Given the description of an element on the screen output the (x, y) to click on. 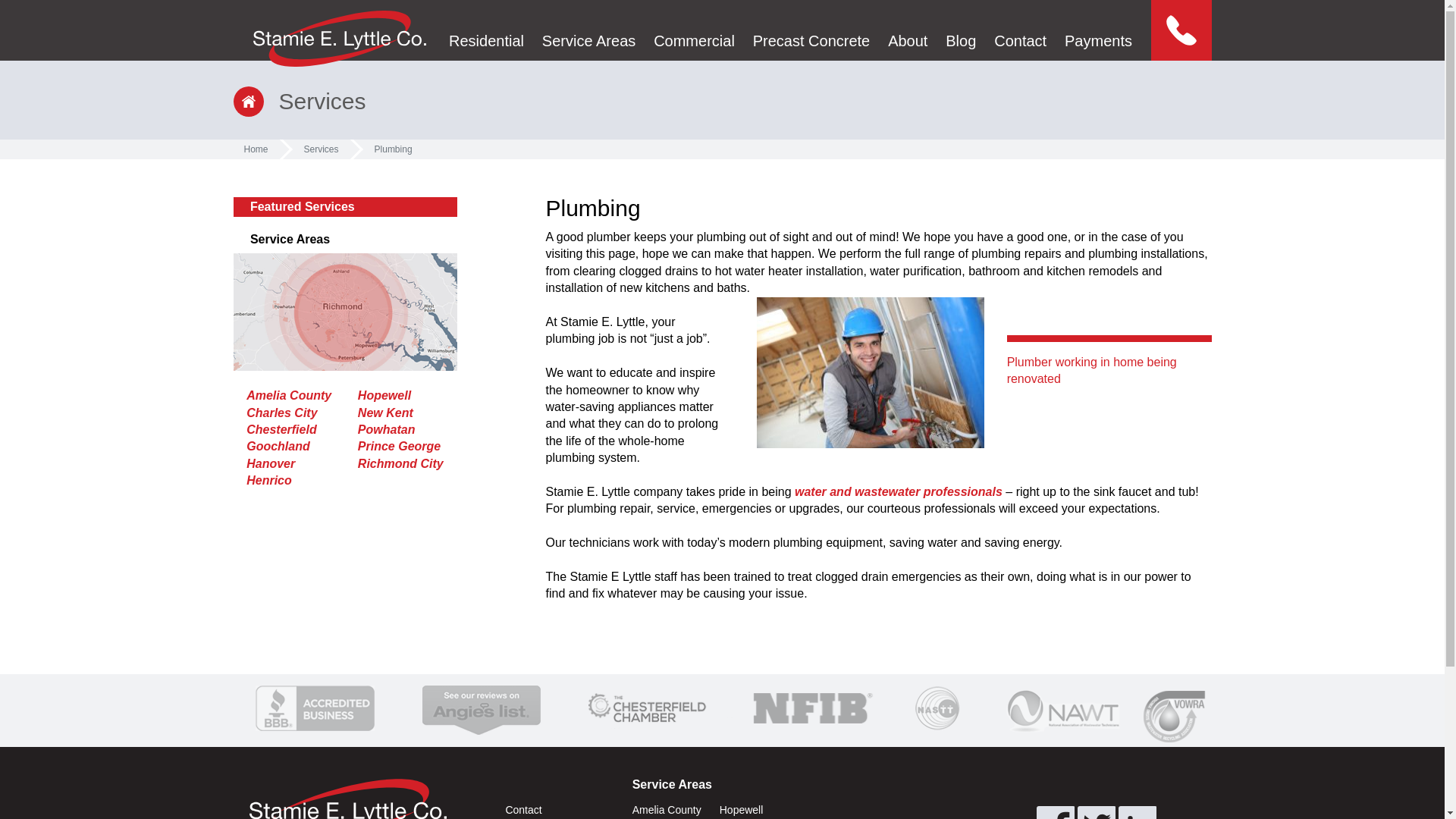
Lyttle Companies (338, 38)
Follow us on Twitter (1096, 812)
Charles City (281, 412)
Commercial (694, 30)
Payments (1098, 30)
Like us on Facebook (1055, 812)
Goochland (278, 445)
Amelia County (288, 395)
Hopewell (384, 395)
Services (321, 148)
